Given the description of an element on the screen output the (x, y) to click on. 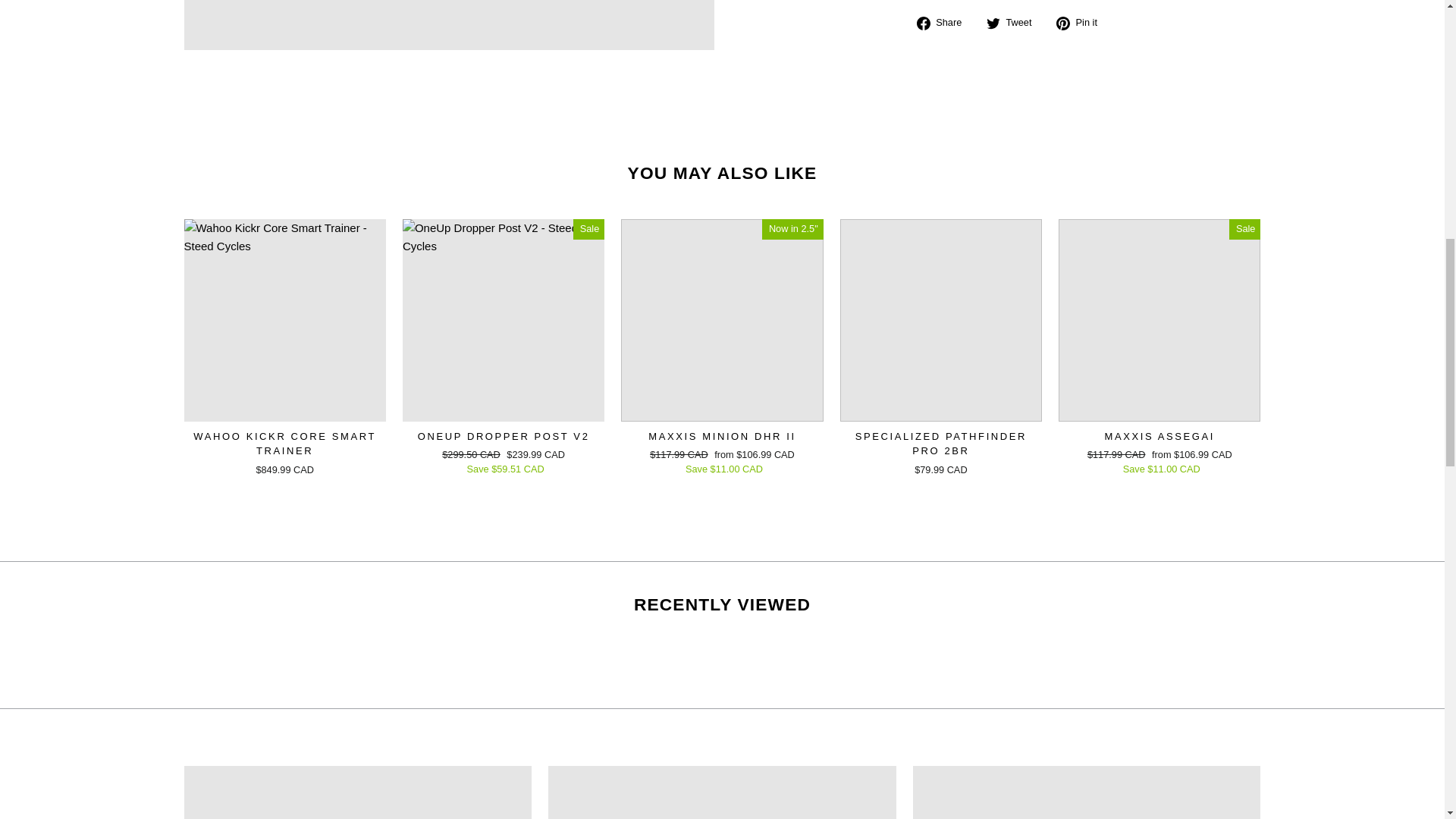
Share on Facebook (944, 22)
Pin on Pinterest (1082, 22)
Tweet on Twitter (1014, 22)
